Given the description of an element on the screen output the (x, y) to click on. 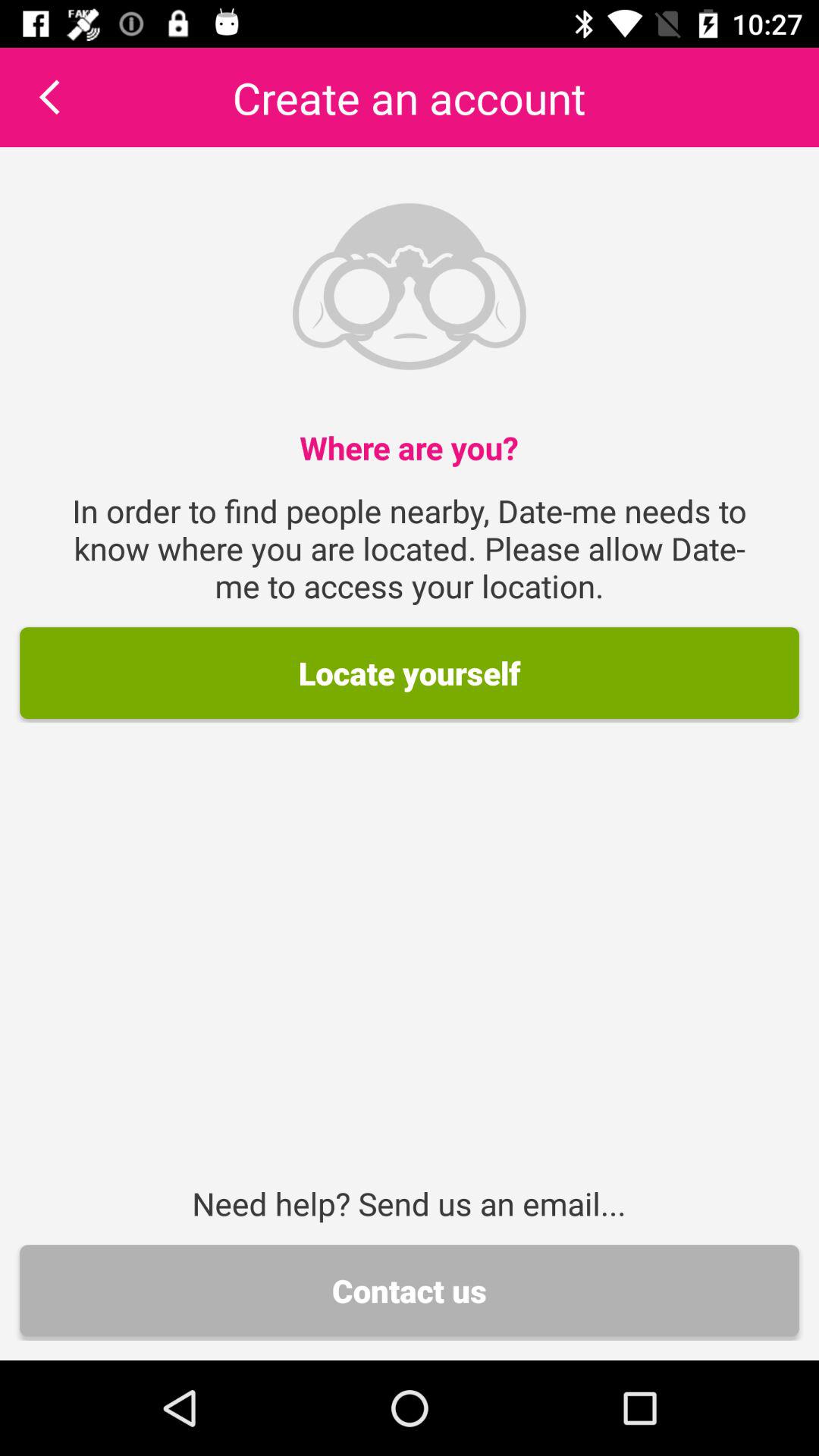
scroll until locate yourself button (409, 672)
